Given the description of an element on the screen output the (x, y) to click on. 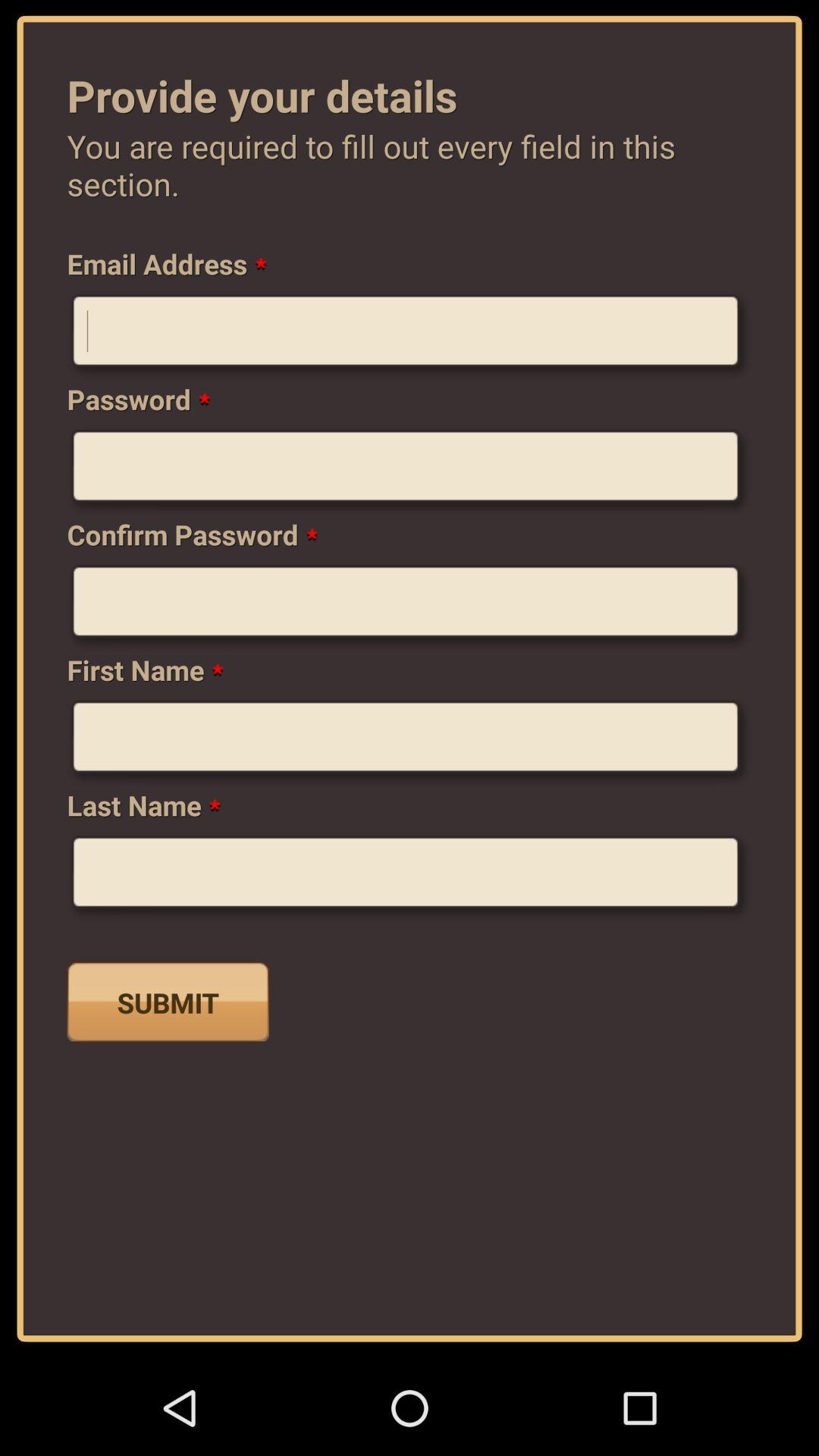
re-enter password (409, 607)
